Given the description of an element on the screen output the (x, y) to click on. 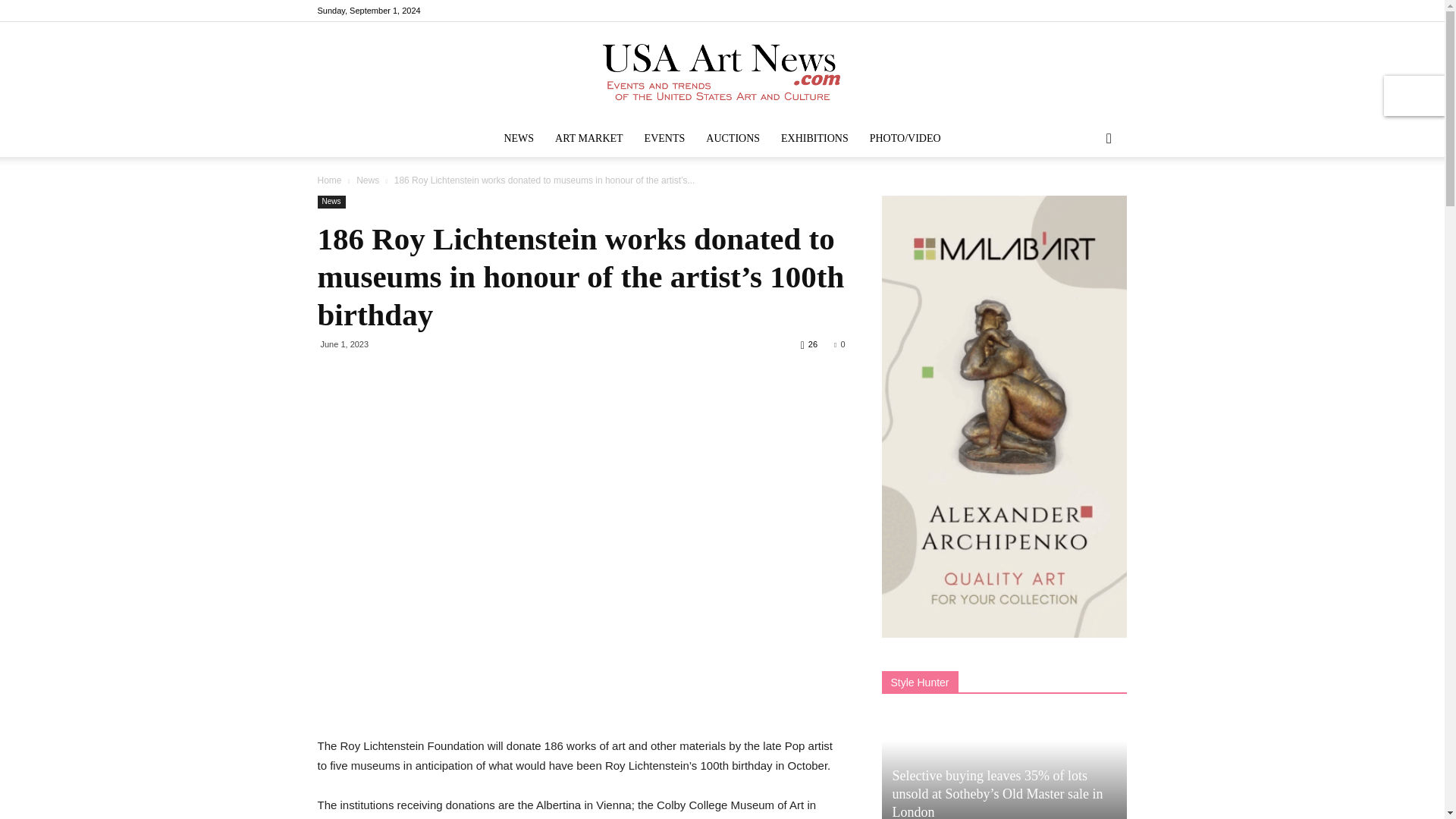
NEWS (518, 138)
Facebook (1040, 10)
Twitter (1114, 10)
Instagram (1065, 10)
RSS (1090, 10)
EVENTS (664, 138)
ART MARKET (588, 138)
